Given the description of an element on the screen output the (x, y) to click on. 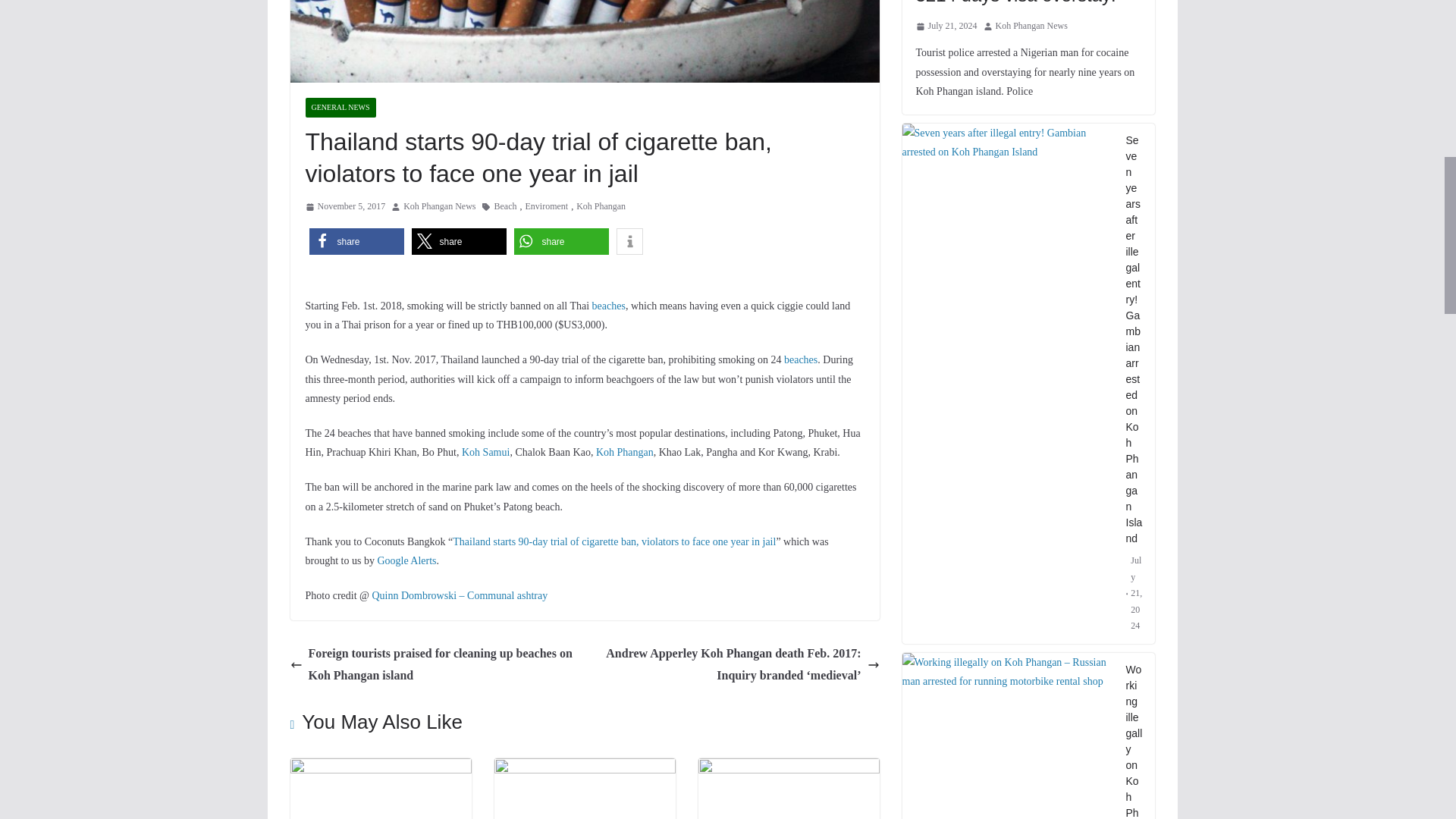
Share on Whatsapp (560, 241)
Google Alerts (406, 560)
More information (628, 241)
10:05 am (344, 207)
Share on Facebook (356, 241)
Share on X (457, 241)
Koh Phangan News (439, 207)
